Given the description of an element on the screen output the (x, y) to click on. 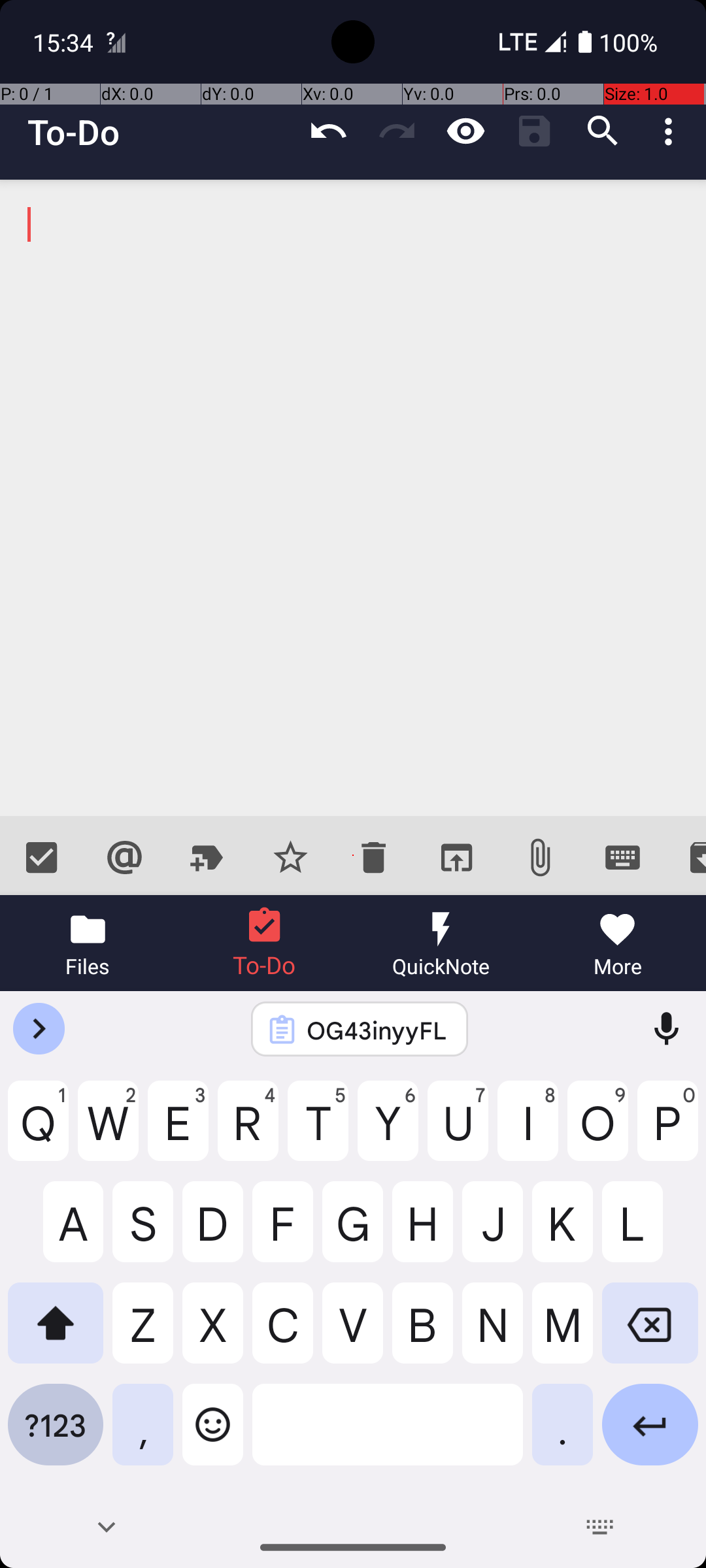
OG43inyyFL Element type: android.widget.TextView (376, 1029)
